Given the description of an element on the screen output the (x, y) to click on. 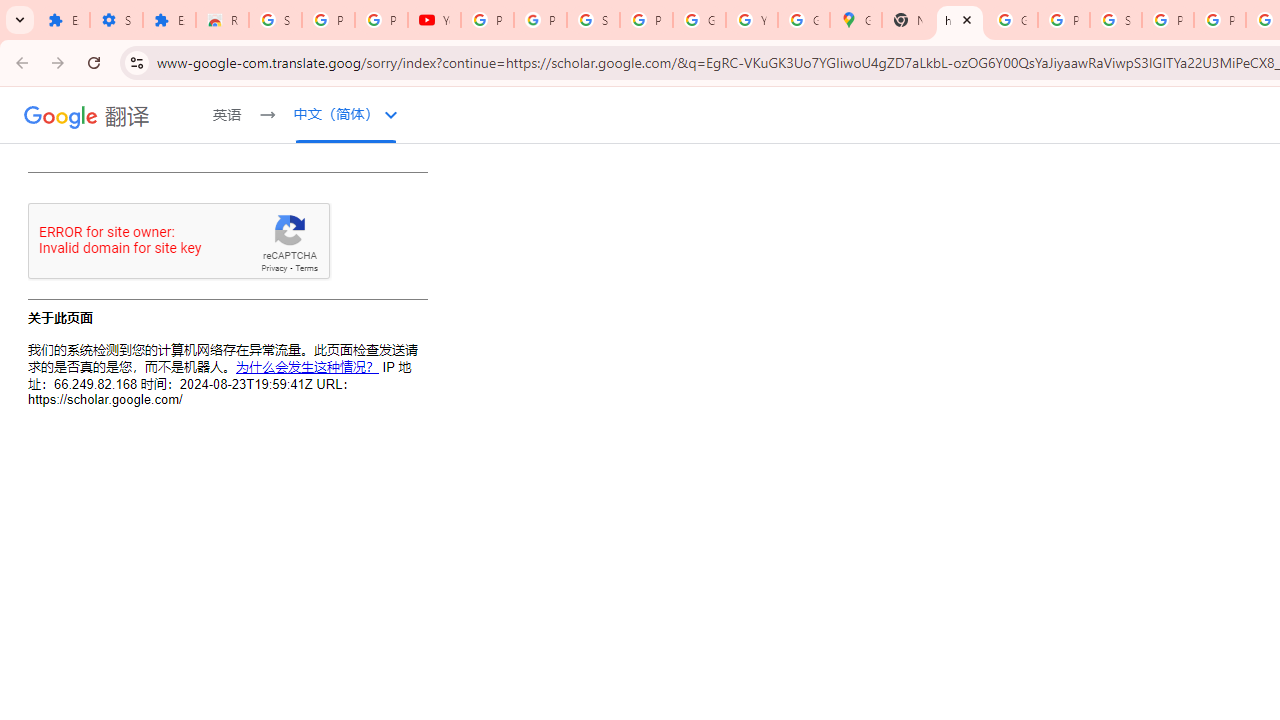
Google Maps (855, 20)
https://scholar.google.com/ (959, 20)
Sign in - Google Accounts (1115, 20)
Sign in - Google Accounts (593, 20)
